Given the description of an element on the screen output the (x, y) to click on. 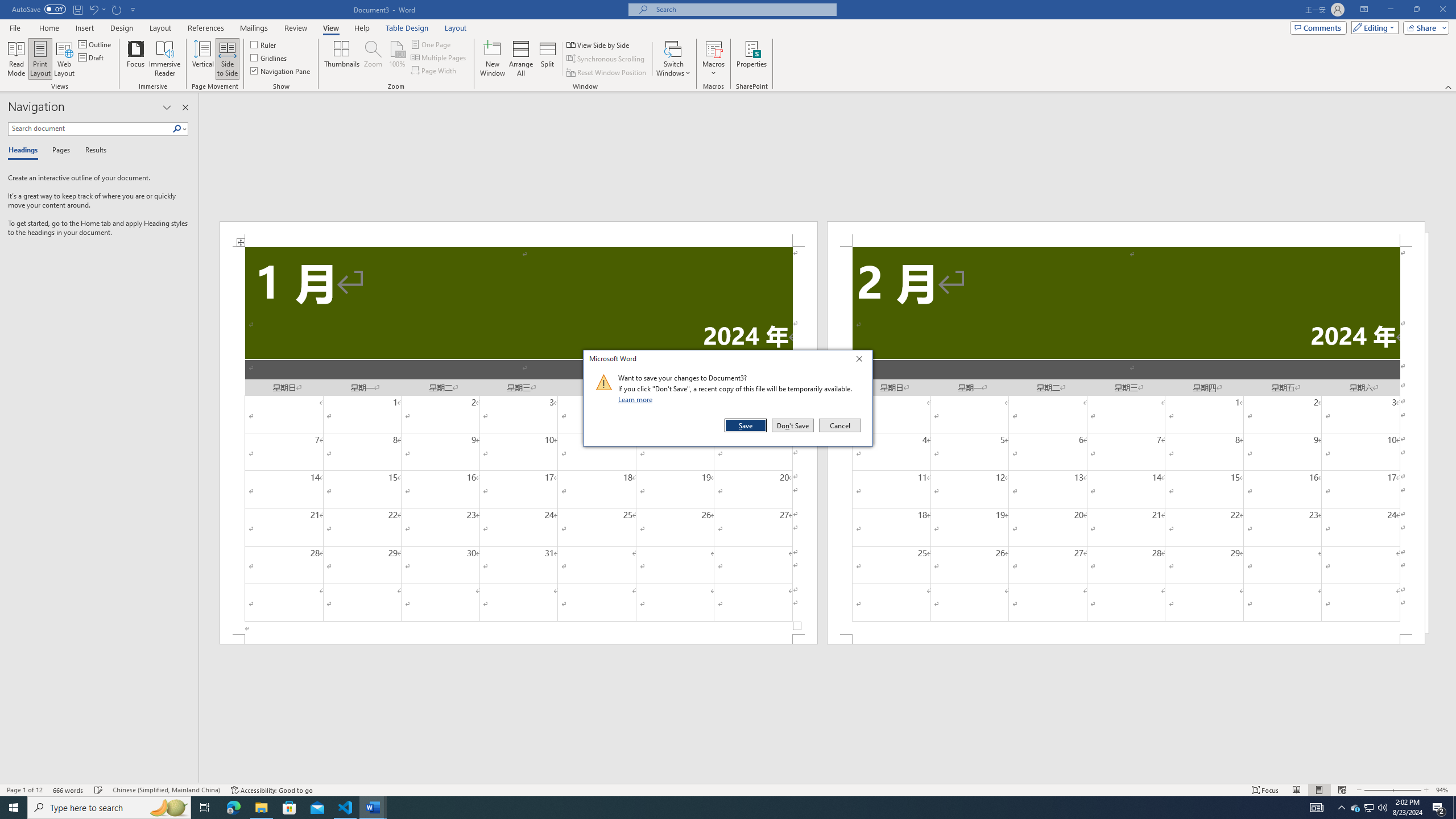
Page Width (434, 69)
Action Center, 2 new notifications (1439, 807)
Visual Studio Code - 1 running window (345, 807)
Side to Side (226, 58)
Don't Save (792, 425)
User Promoted Notification Area (1368, 807)
Spelling and Grammar Check Checking (98, 790)
